Given the description of an element on the screen output the (x, y) to click on. 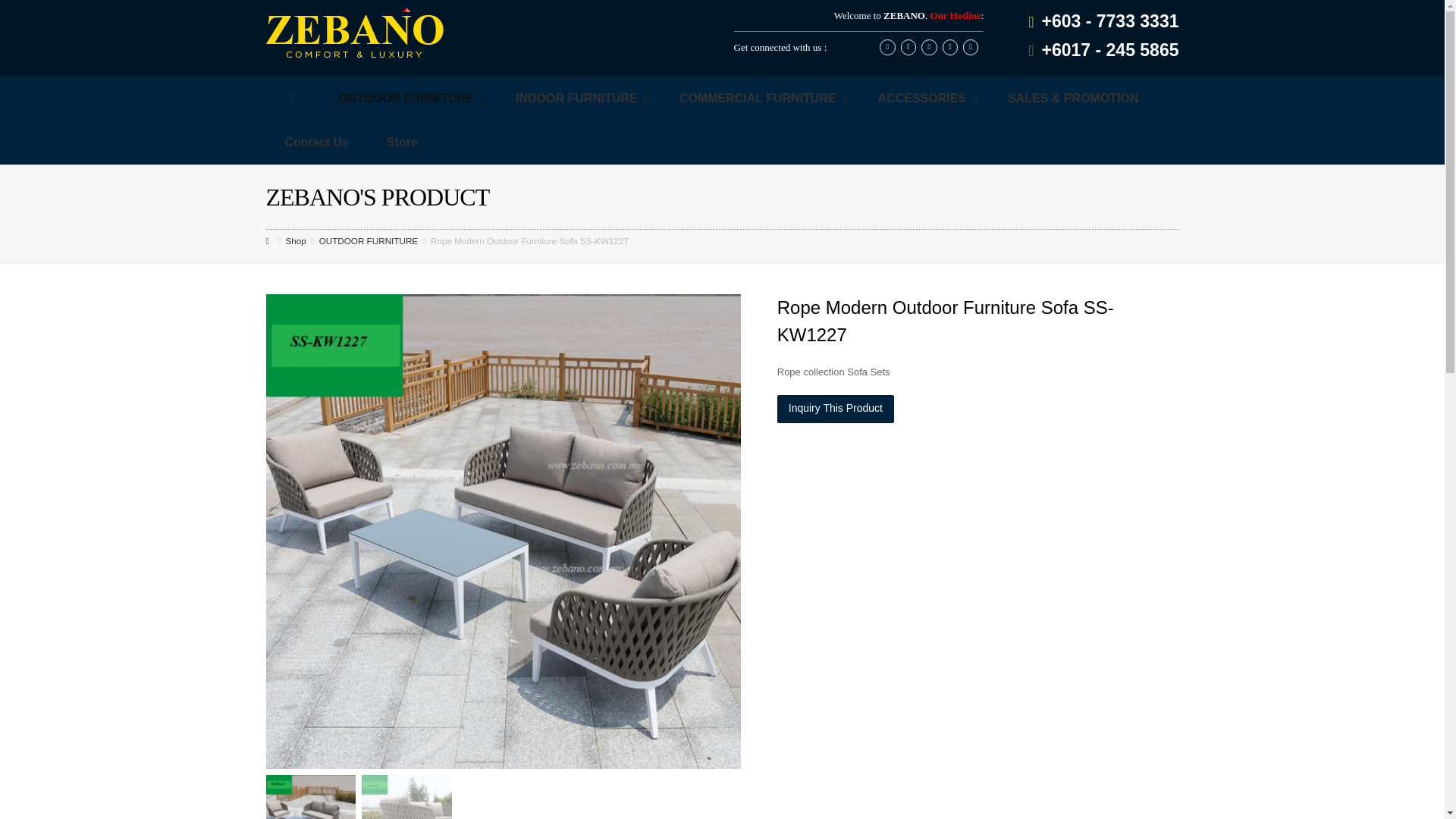
OUTDOOR FURNITURE (368, 240)
OUTDOOR FURNITURE (408, 98)
INDOOR FURNITURE (578, 98)
Shop (295, 240)
